Given the description of an element on the screen output the (x, y) to click on. 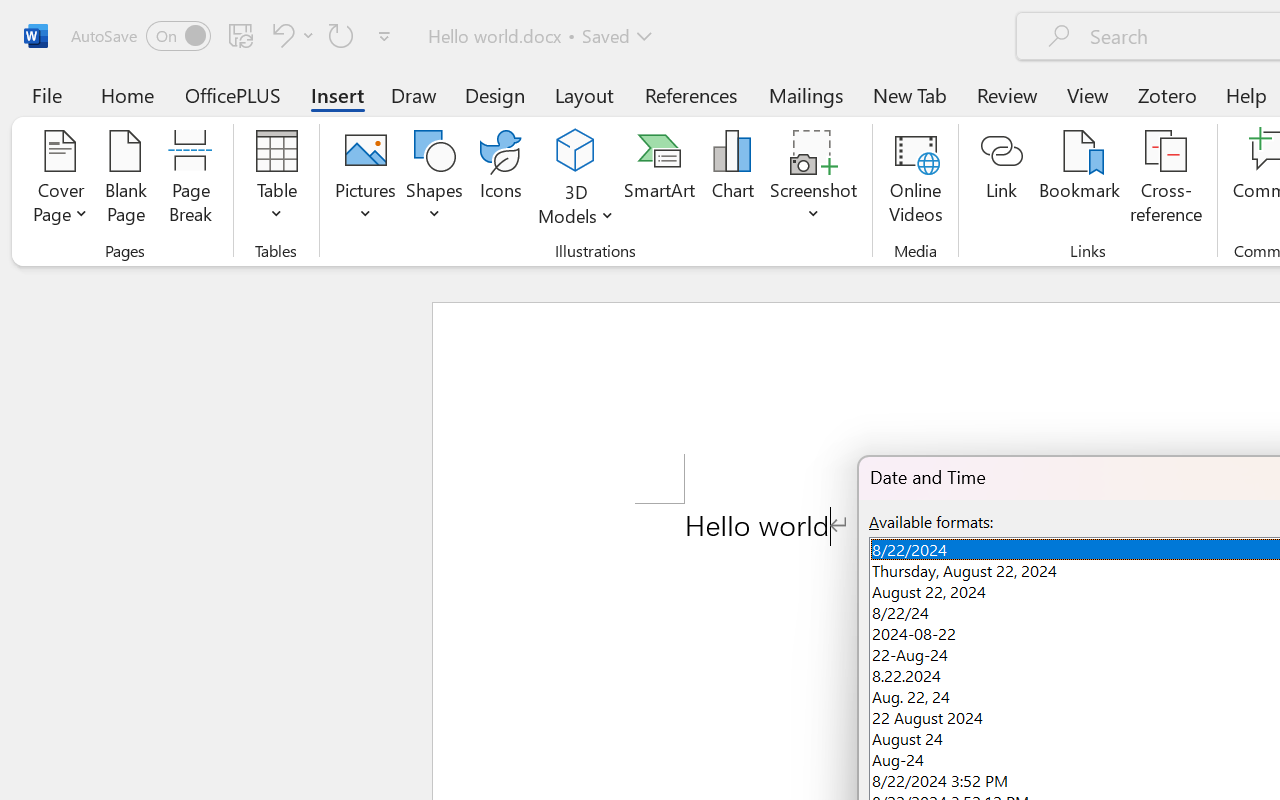
Can't Repeat (341, 35)
Icons (500, 179)
Design (495, 94)
References (690, 94)
Customize Quick Access Toolbar (384, 35)
Table (276, 179)
View (1087, 94)
Home (127, 94)
3D Models (576, 179)
Save (241, 35)
